Given the description of an element on the screen output the (x, y) to click on. 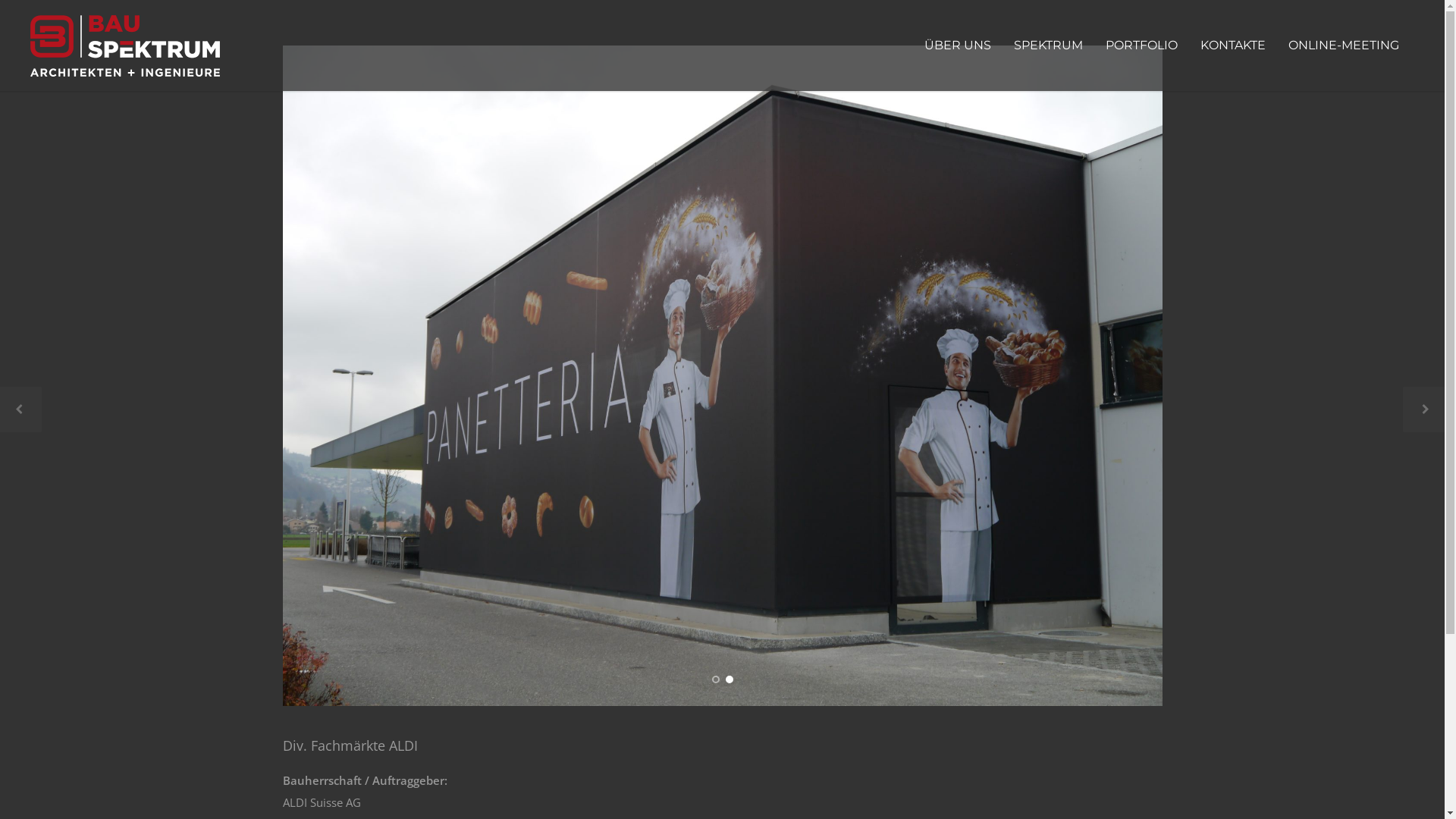
SPEKTRUM Element type: text (1048, 44)
1 Element type: text (714, 679)
KONTAKTE Element type: text (1233, 44)
ONLINE-MEETING Element type: text (1343, 44)
2 Element type: text (728, 679)
PORTFOLIO Element type: text (1141, 44)
